Given the description of an element on the screen output the (x, y) to click on. 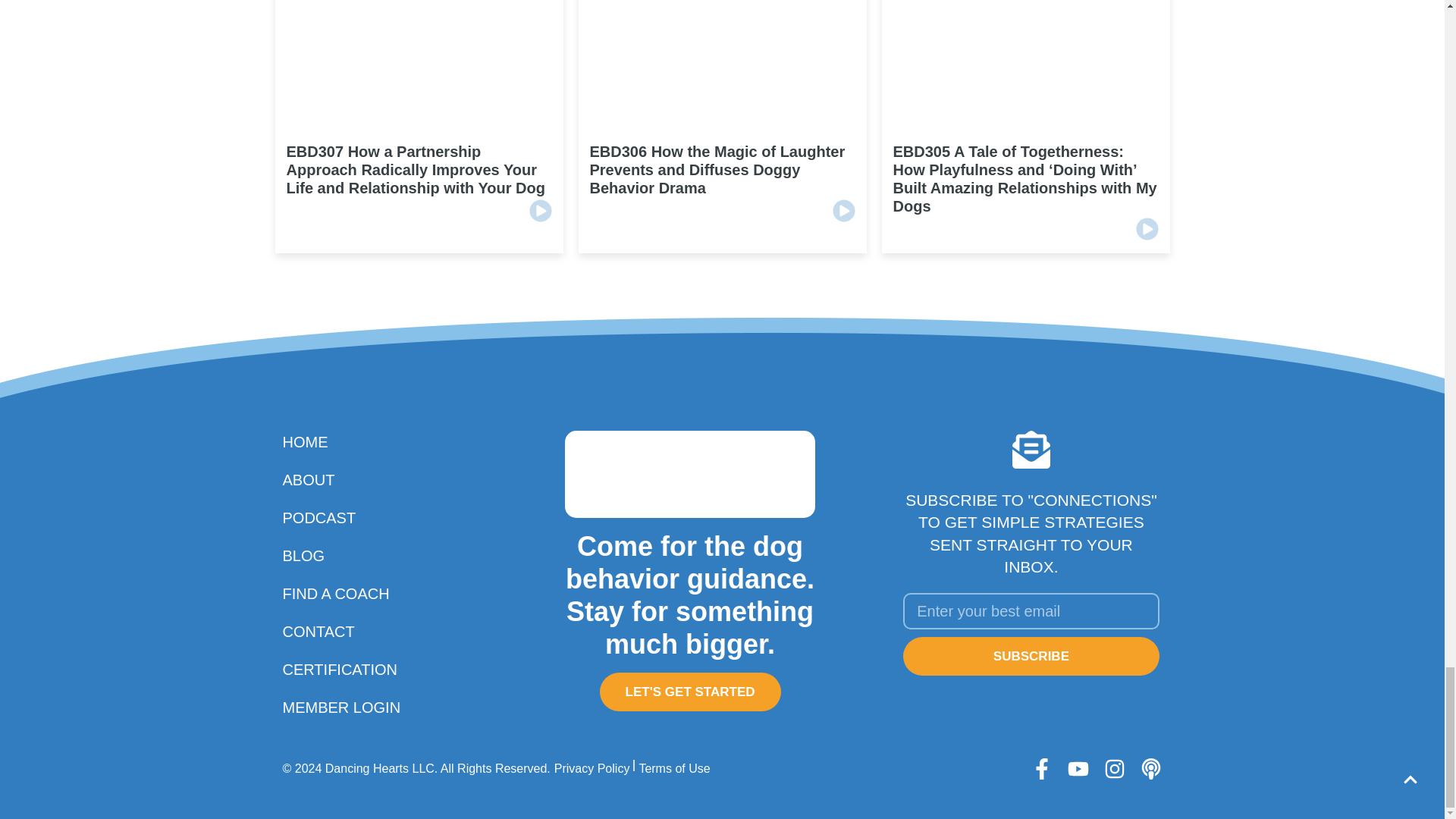
HOME (352, 441)
CONTACT (352, 630)
FIND A COACH (352, 593)
PODCAST (352, 517)
BLOG (352, 555)
ABOUT (352, 479)
